Given the description of an element on the screen output the (x, y) to click on. 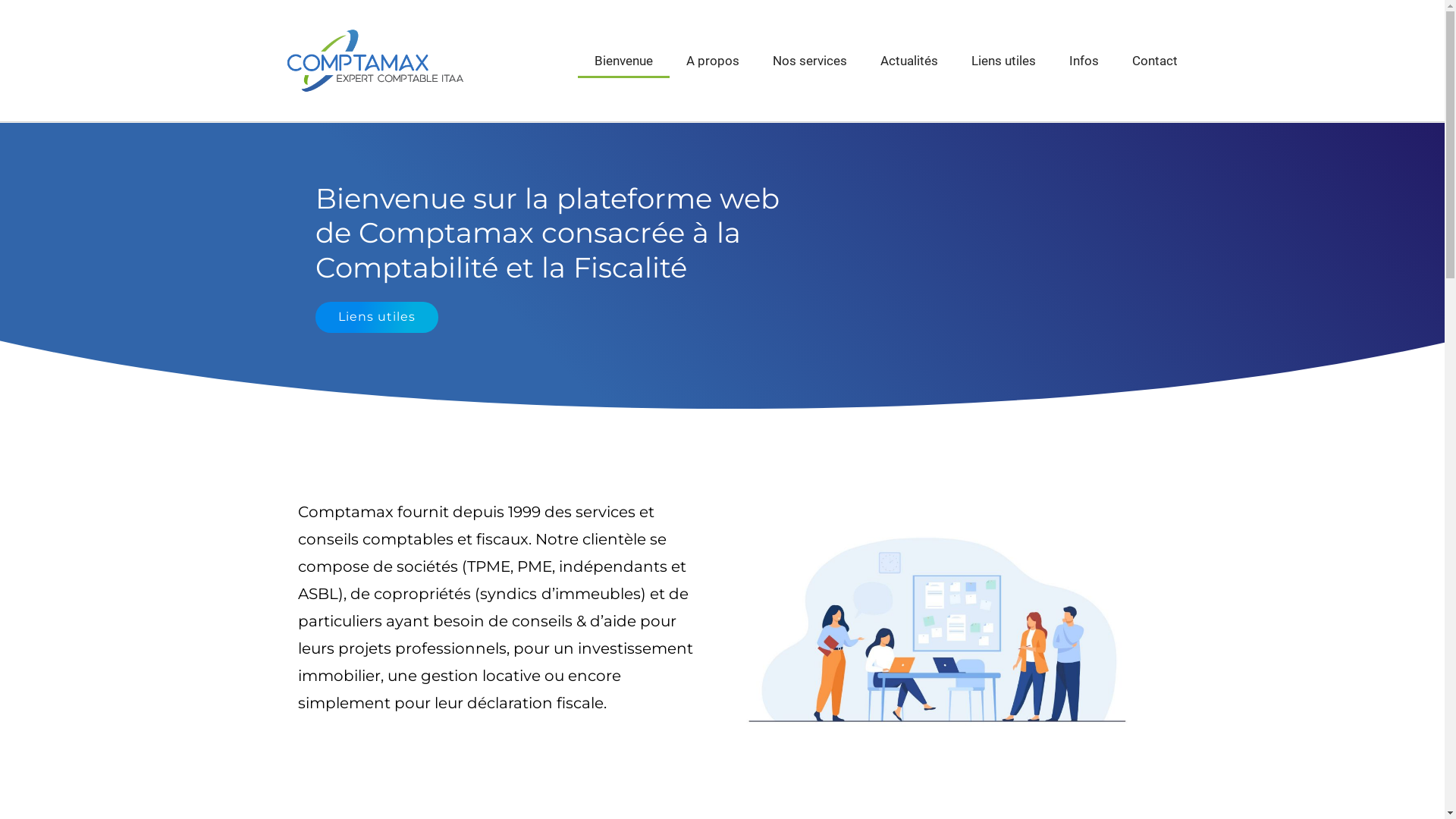
Contact Element type: text (1154, 60)
Infos Element type: text (1083, 60)
Liens utiles Element type: text (1003, 60)
Nos services Element type: text (809, 60)
Liens utiles Element type: text (377, 316)
A propos Element type: text (712, 60)
Bienvenue Element type: text (623, 60)
